Given the description of an element on the screen output the (x, y) to click on. 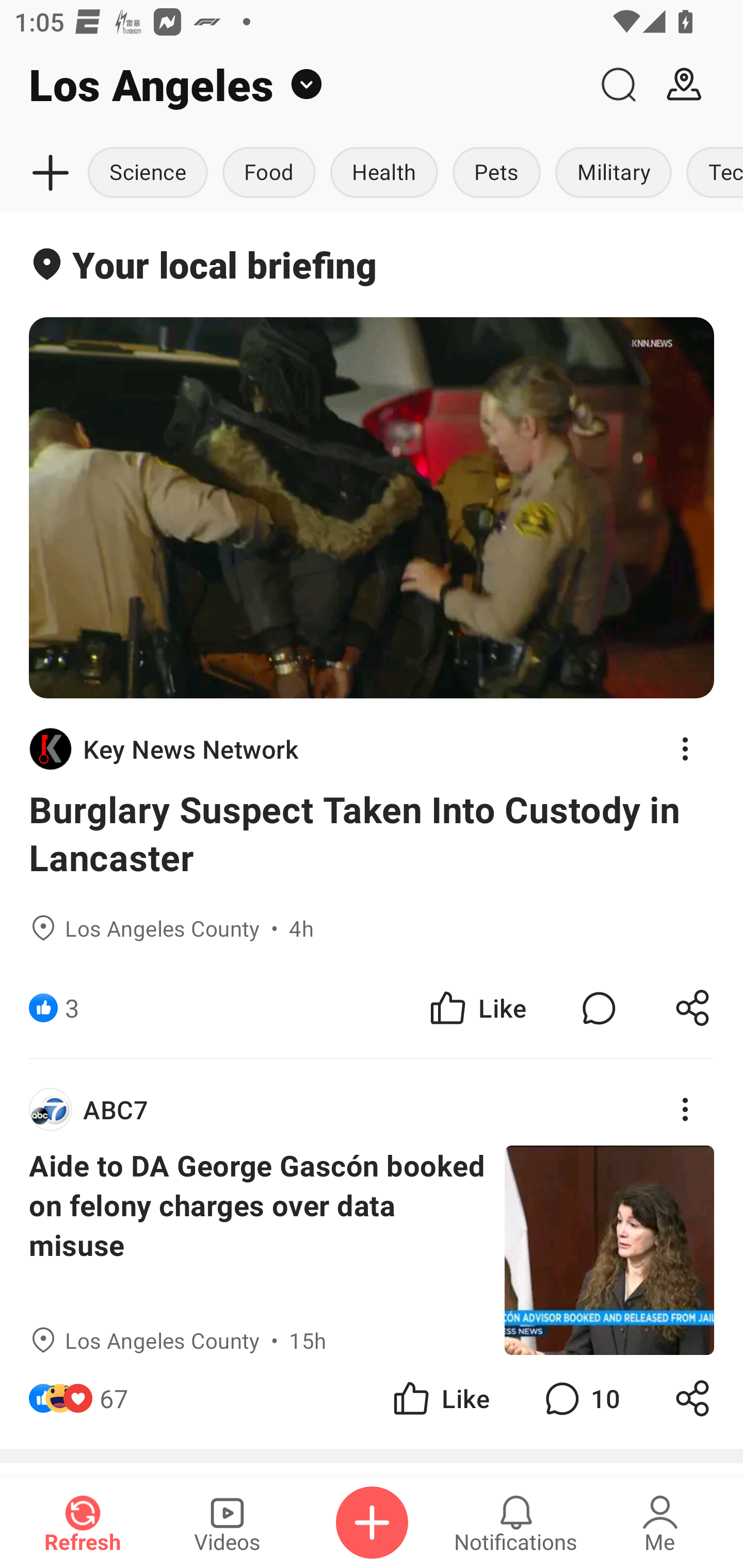
Los Angeles (292, 84)
Science (150, 172)
Food (269, 172)
Health (384, 172)
Pets (496, 172)
Military (613, 172)
3 (72, 1007)
Like (476, 1007)
67 (113, 1397)
Like (439, 1397)
10 (579, 1397)
Videos (227, 1522)
Notifications (516, 1522)
Me (659, 1522)
